Given the description of an element on the screen output the (x, y) to click on. 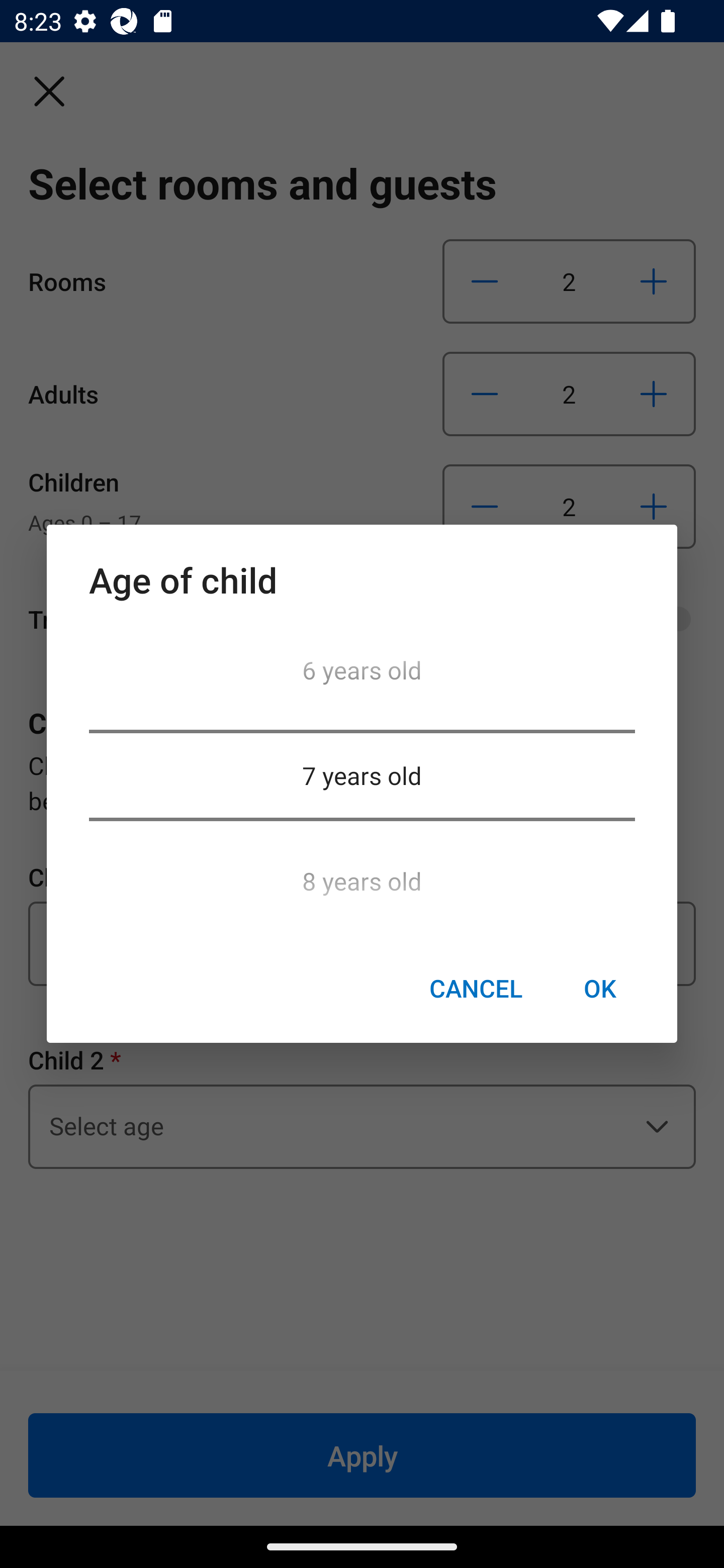
6 years old (361, 675)
7 years old (361, 774)
8 years old (361, 875)
CANCEL (475, 988)
OK (599, 988)
